Given the description of an element on the screen output the (x, y) to click on. 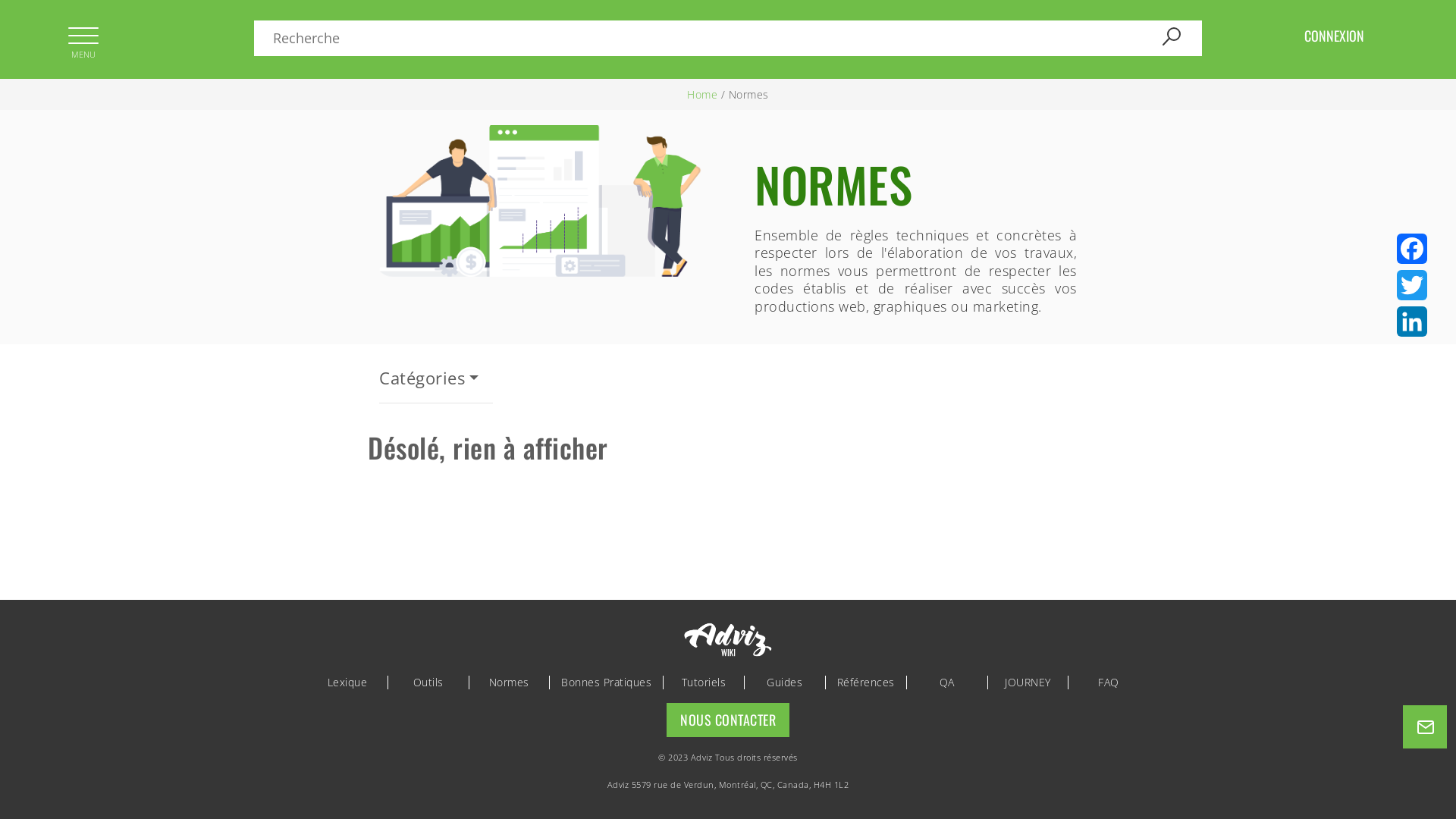
LinkedIn Element type: text (1411, 321)
CONNEXION Element type: text (1334, 35)
Home Element type: text (702, 94)
Bonnes Pratiques Element type: text (606, 682)
Adviz Element type: text (618, 784)
Twitter Element type: text (1411, 284)
Outils Element type: text (428, 682)
Normes Element type: text (509, 682)
QA Element type: text (946, 682)
Tutoriels Element type: text (703, 682)
Guides Element type: text (784, 682)
Facebook Element type: text (1411, 248)
JOURNEY Element type: text (1028, 682)
Adviz Element type: text (701, 756)
NOUS CONTACTER Element type: text (727, 719)
FAQ Element type: text (1108, 682)
MENU Element type: text (83, 38)
Lexique Element type: text (347, 682)
